Given the description of an element on the screen output the (x, y) to click on. 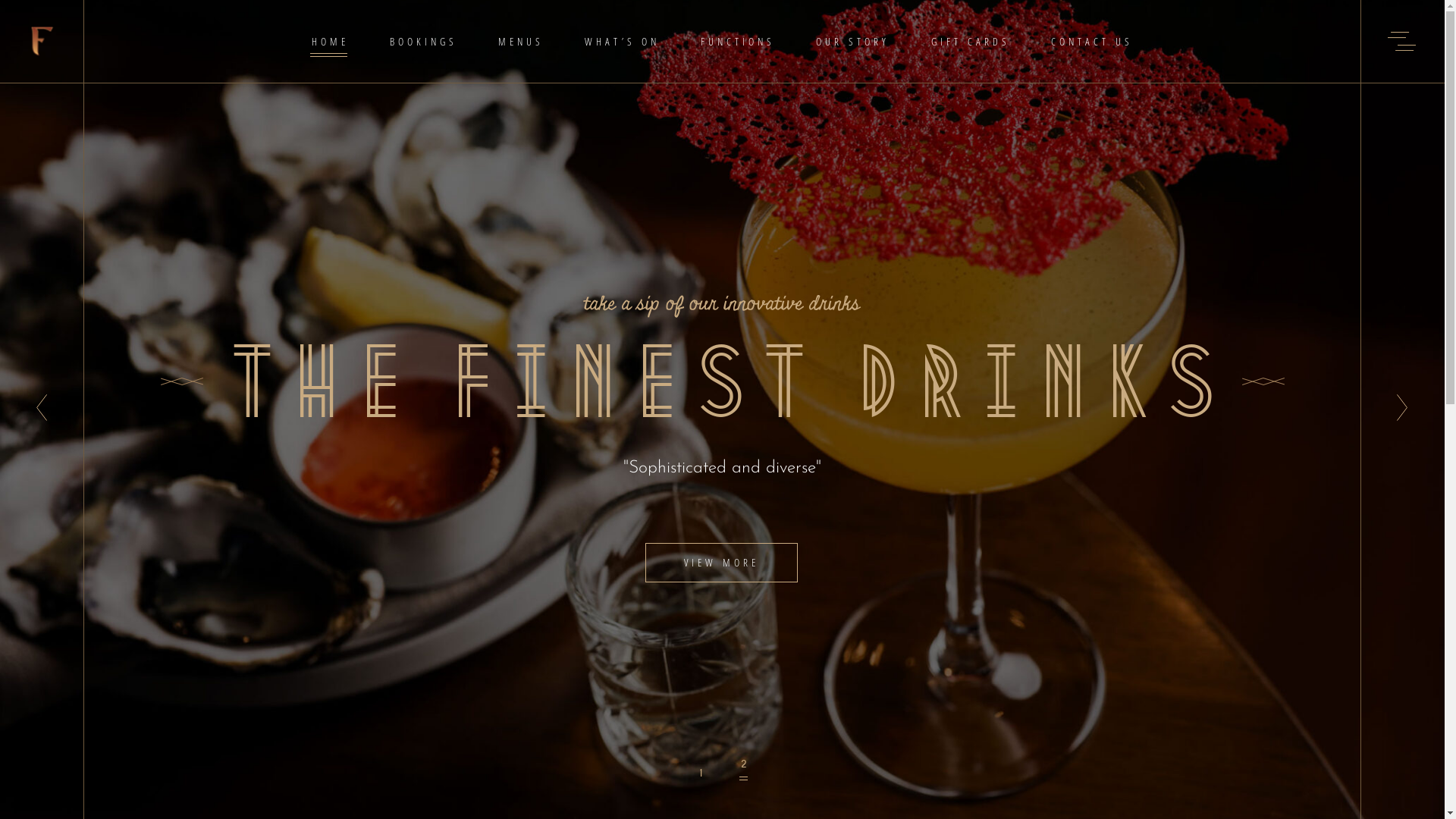
OUR STORY Element type: text (852, 41)
BOOKINGS Element type: text (423, 41)
GIFT CARDS Element type: text (969, 41)
MENUS Element type: text (520, 41)
CONTACT US Element type: text (1091, 41)
VIEW MORE Element type: text (720, 562)
HOME Element type: text (330, 41)
FUNCTIONS Element type: text (737, 41)
